Given the description of an element on the screen output the (x, y) to click on. 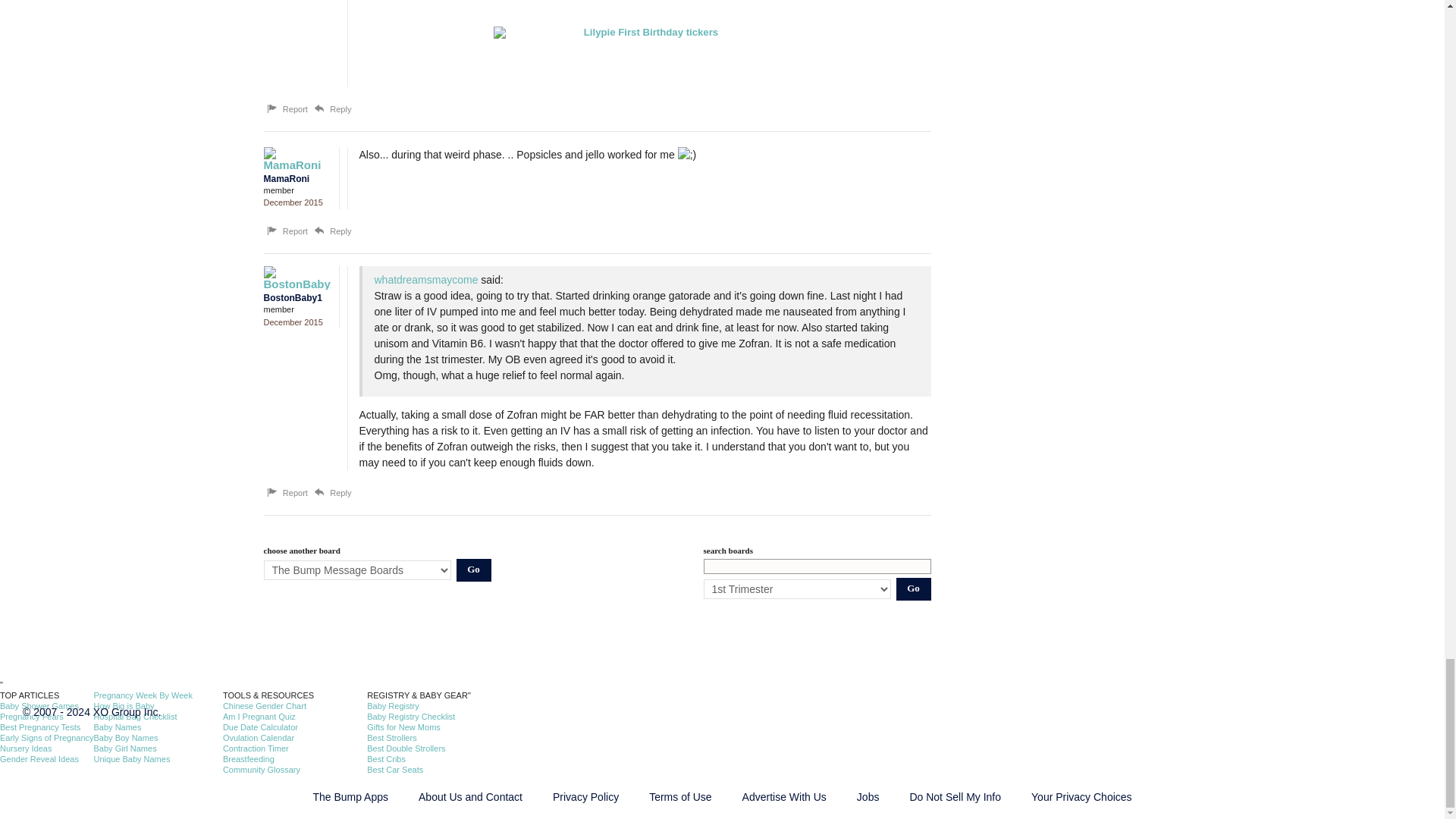
Go (474, 569)
Go (913, 589)
